Given the description of an element on the screen output the (x, y) to click on. 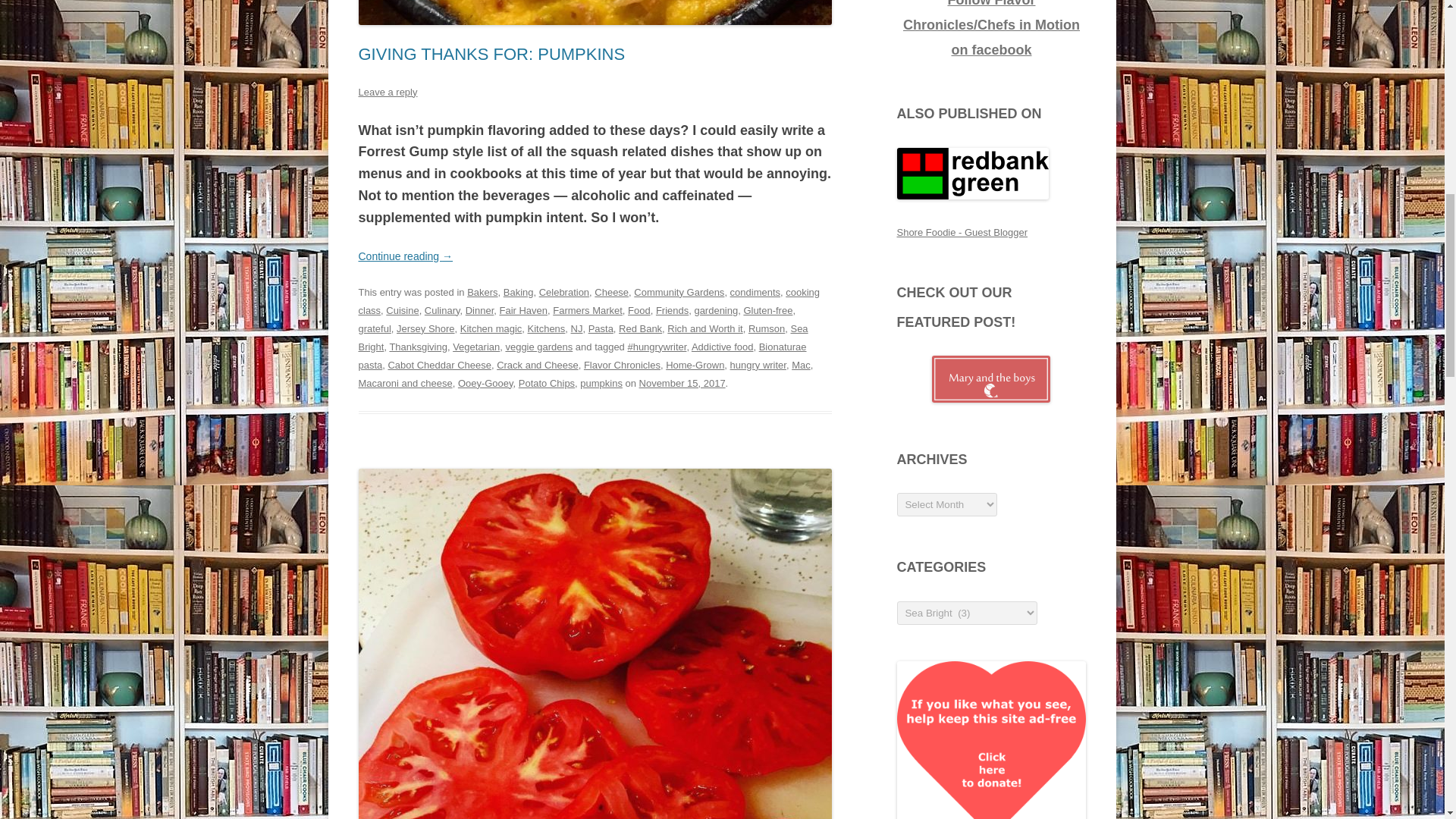
Kitchen magic (491, 328)
Cheese (611, 292)
Fair Haven (523, 310)
Baking (518, 292)
Food (638, 310)
Red Bank (640, 328)
Leave a reply (387, 91)
Vegetarian (475, 346)
condiments (755, 292)
Sea Bright (583, 337)
Gluten-free (767, 310)
Pasta (600, 328)
Bakers (482, 292)
grateful (374, 328)
Jersey Shore (425, 328)
